Given the description of an element on the screen output the (x, y) to click on. 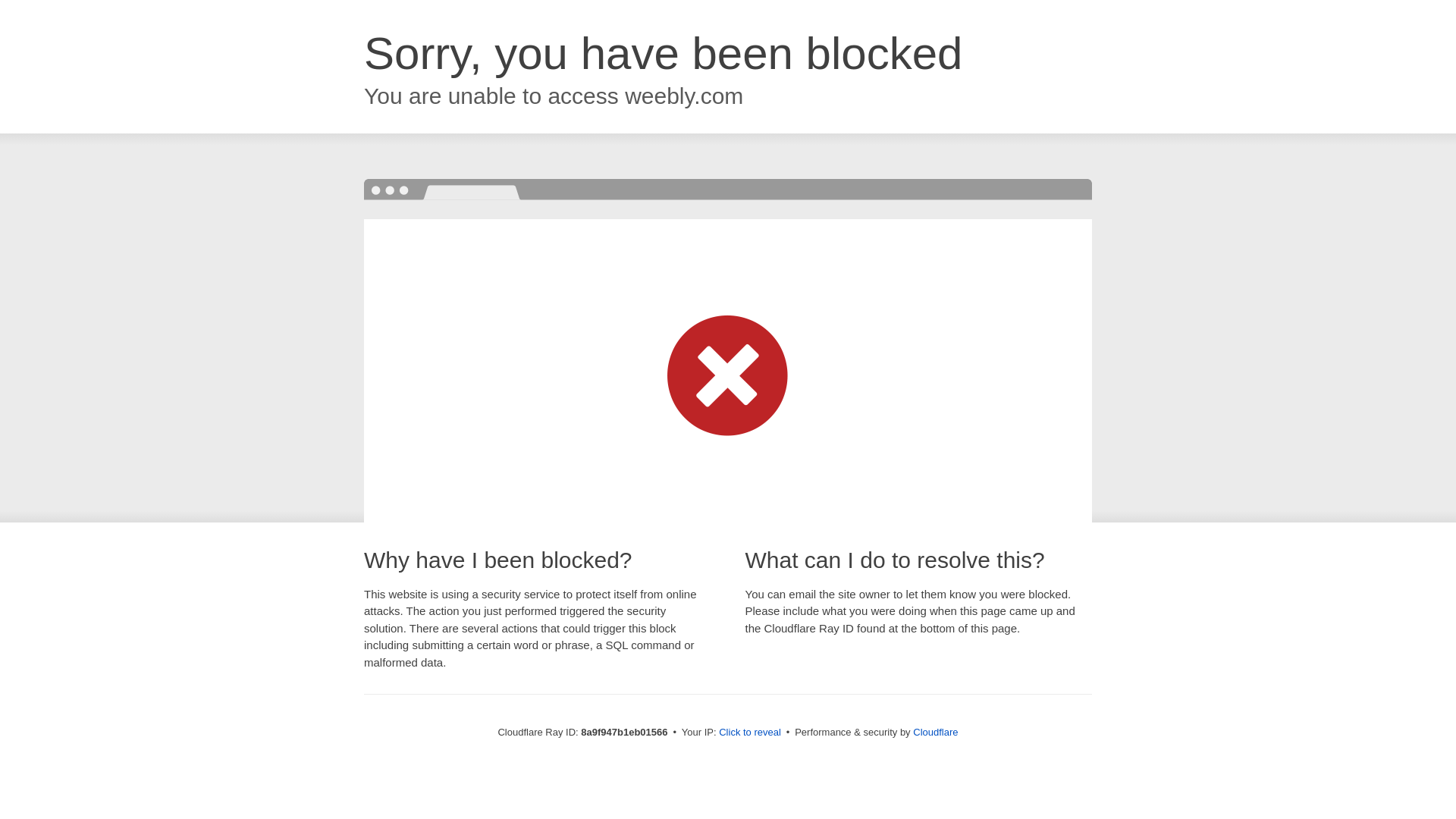
Click to reveal (749, 732)
Cloudflare (935, 731)
